Given the description of an element on the screen output the (x, y) to click on. 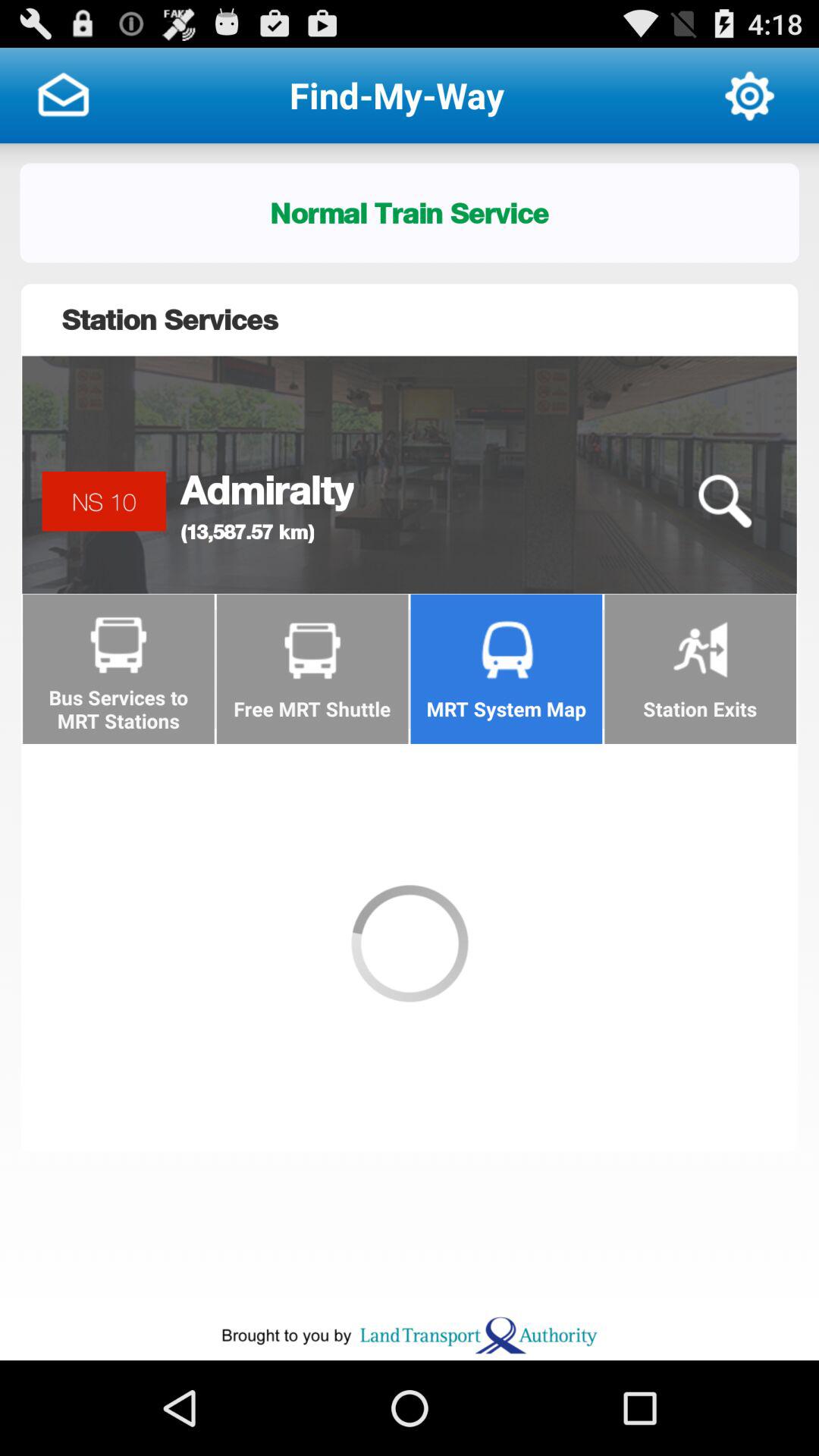
mail press envelope (62, 95)
